Given the description of an element on the screen output the (x, y) to click on. 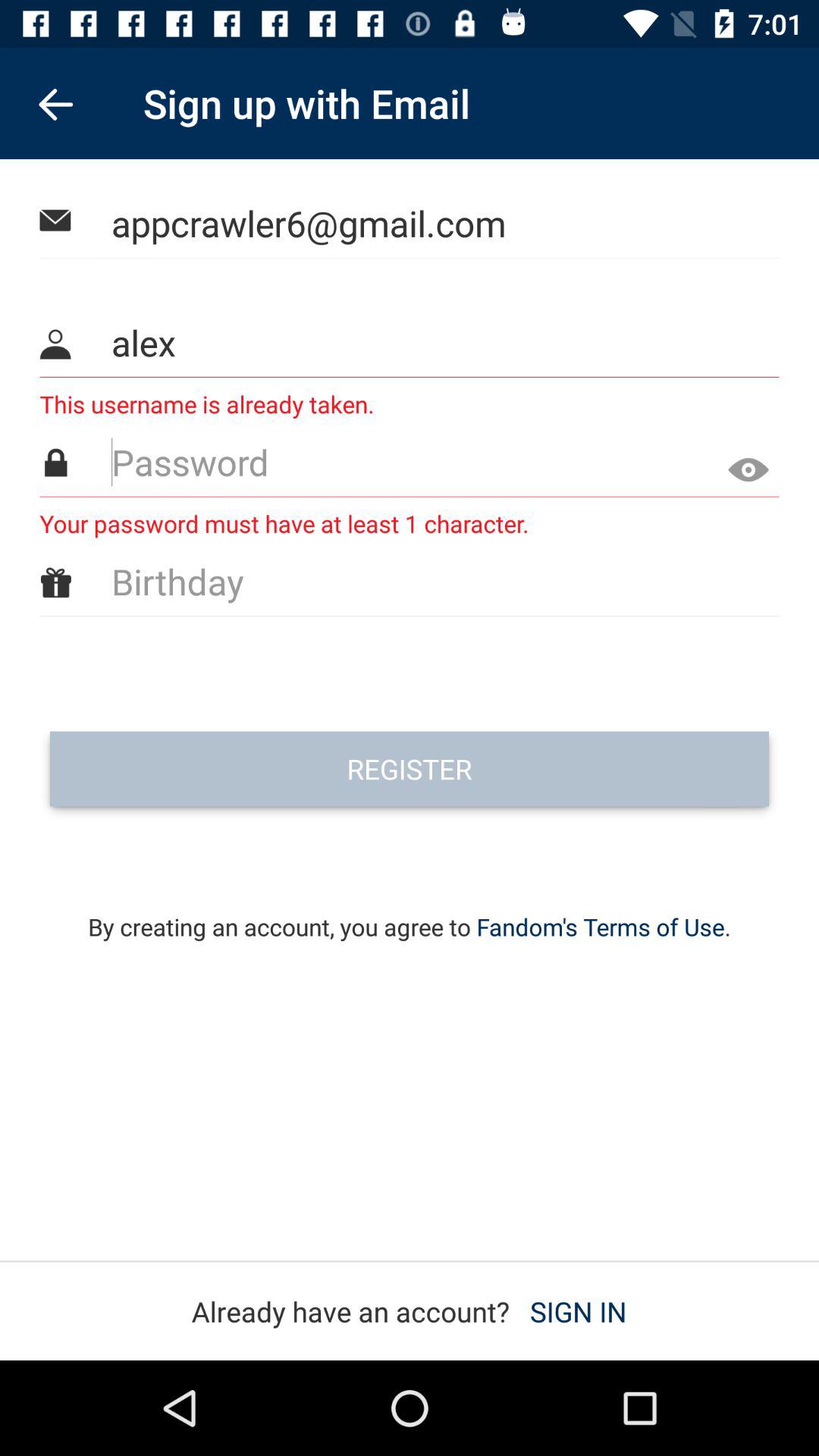
select item to the left of sign up with item (55, 103)
